Given the description of an element on the screen output the (x, y) to click on. 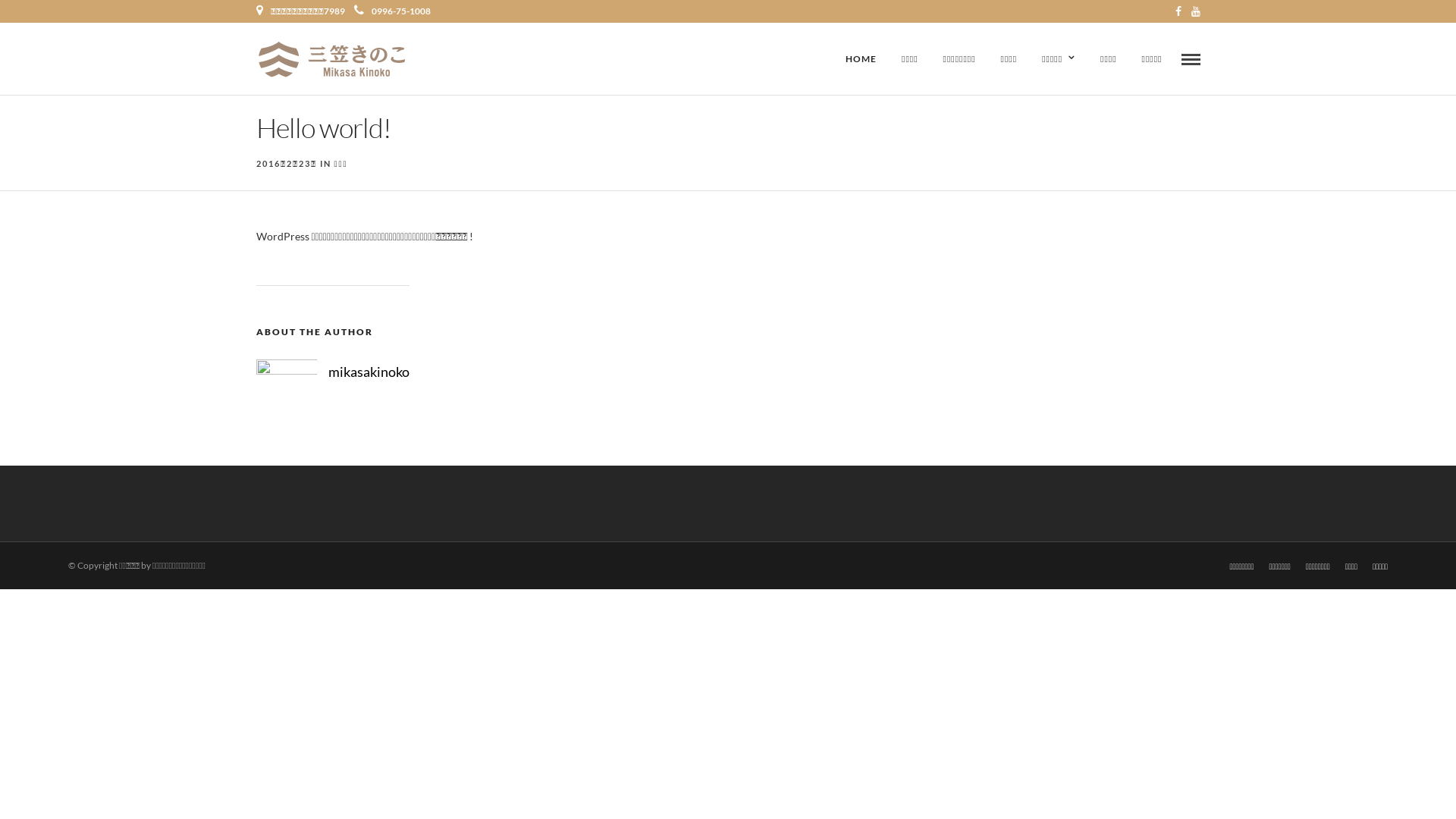
HOME Element type: text (861, 59)
0996-75-1008 Element type: text (391, 10)
Youtube Element type: hover (1194, 11)
